Given the description of an element on the screen output the (x, y) to click on. 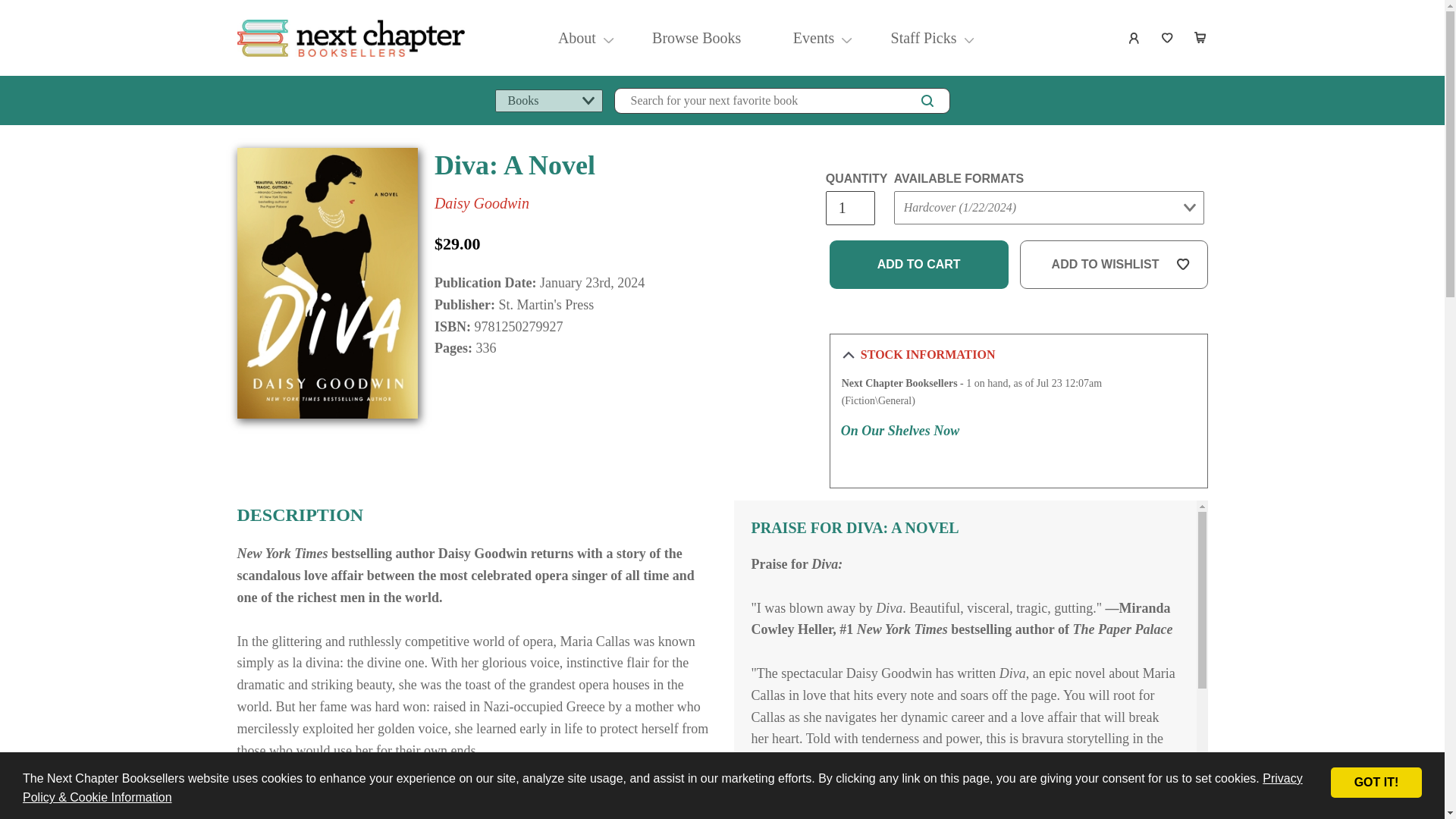
SEARCH (926, 100)
1 (850, 207)
Submit (922, 237)
Daisy Goodwin (481, 202)
Cart (1201, 37)
ADD TO WISHLIST (1114, 264)
Add to cart (919, 264)
Add to cart (919, 264)
Wishlists (1168, 37)
Browse Books (696, 38)
Wishlist (1168, 37)
Log in (1134, 37)
Log in (1134, 37)
Events (813, 38)
